Given the description of an element on the screen output the (x, y) to click on. 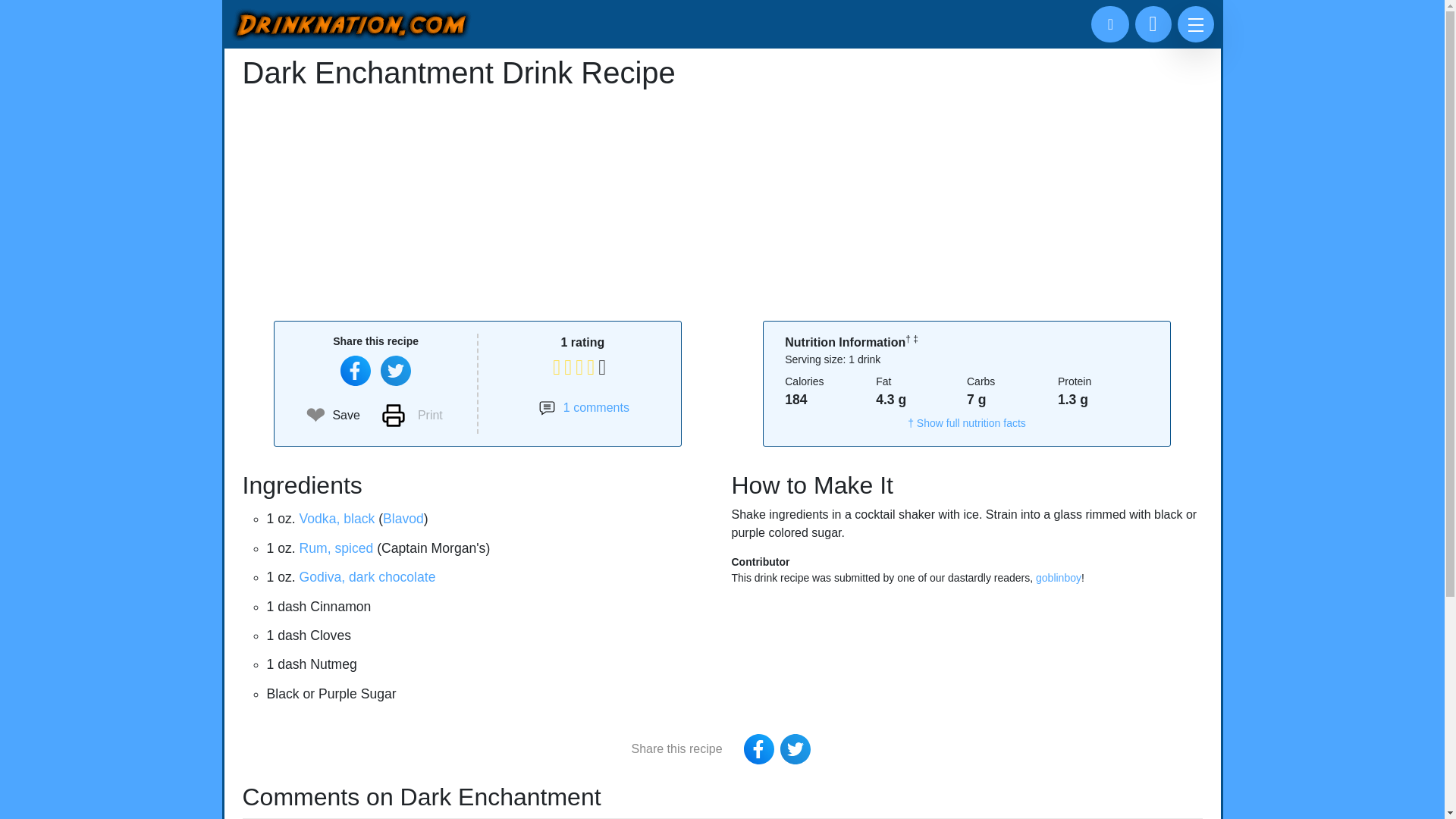
Rum, spiced (336, 548)
goblinboy (1058, 577)
Vodka, black (337, 518)
Print (411, 415)
1 comments (583, 407)
Godiva, dark chocolate (367, 576)
Blavod (402, 518)
4 stars (582, 341)
